Given the description of an element on the screen output the (x, y) to click on. 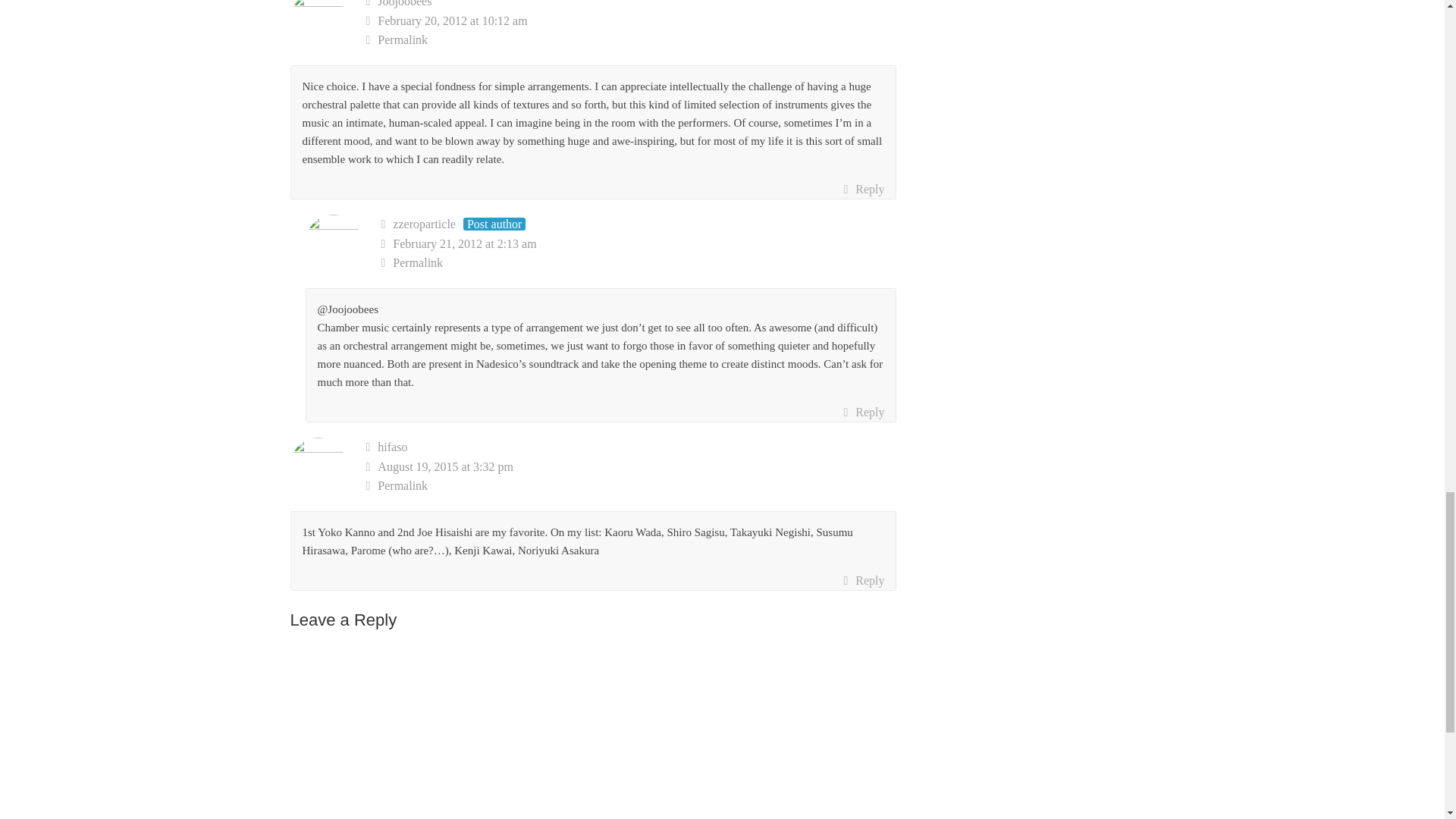
Comment Form (592, 731)
Joojoobees (403, 3)
Reply (863, 189)
Reply (863, 580)
Permalink (630, 39)
zzeroparticle (424, 223)
Permalink (630, 485)
Permalink (638, 262)
Reply (863, 412)
